Given the description of an element on the screen output the (x, y) to click on. 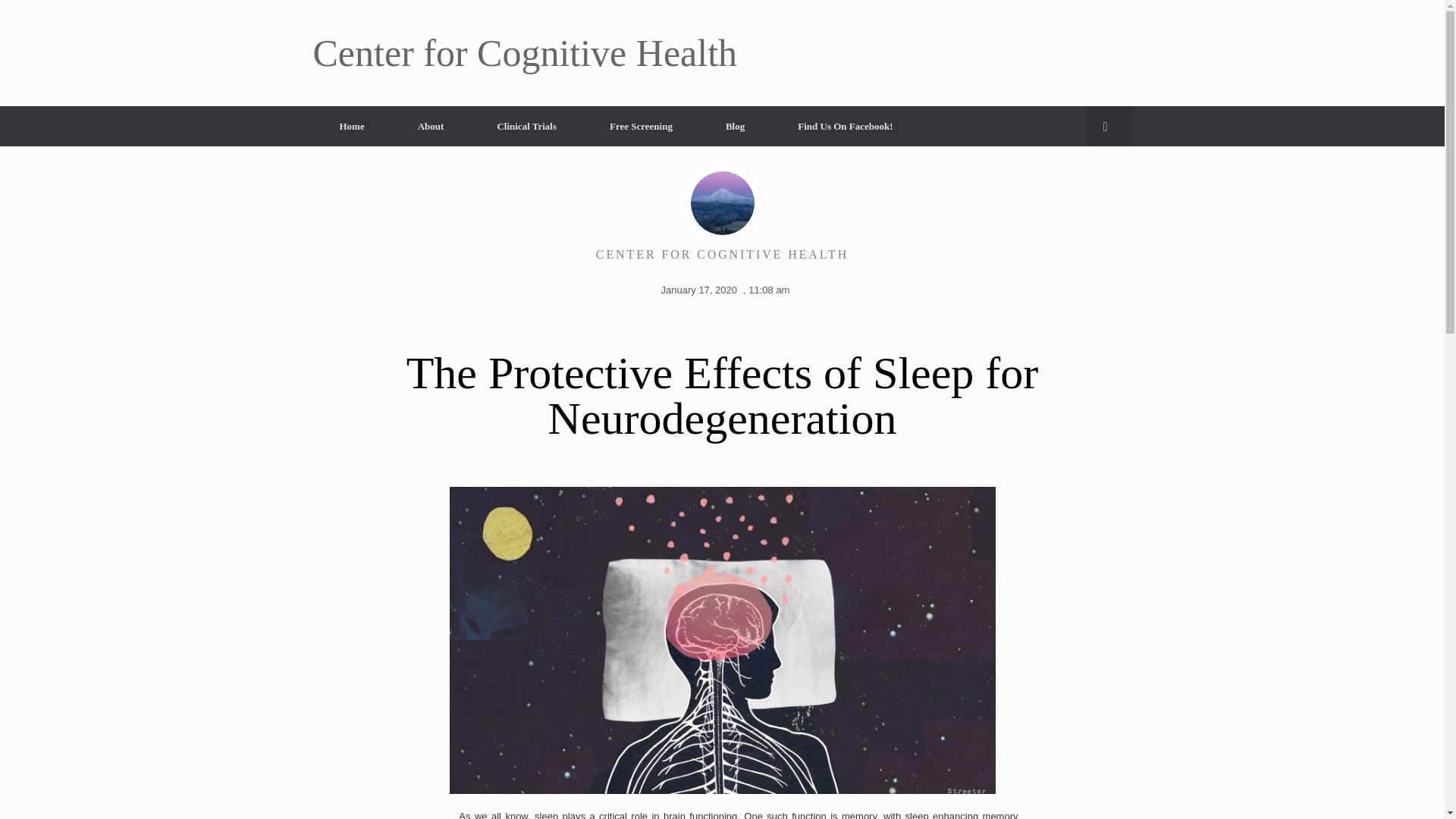
Center for Cognitive Health (524, 53)
About (430, 126)
January 17, 2020 (695, 289)
Find Us On Facebook! (844, 126)
Blog (734, 126)
Free Screening (640, 126)
Home (351, 126)
Clinical Trials (526, 126)
Center for Cognitive Health (524, 53)
